Given the description of an element on the screen output the (x, y) to click on. 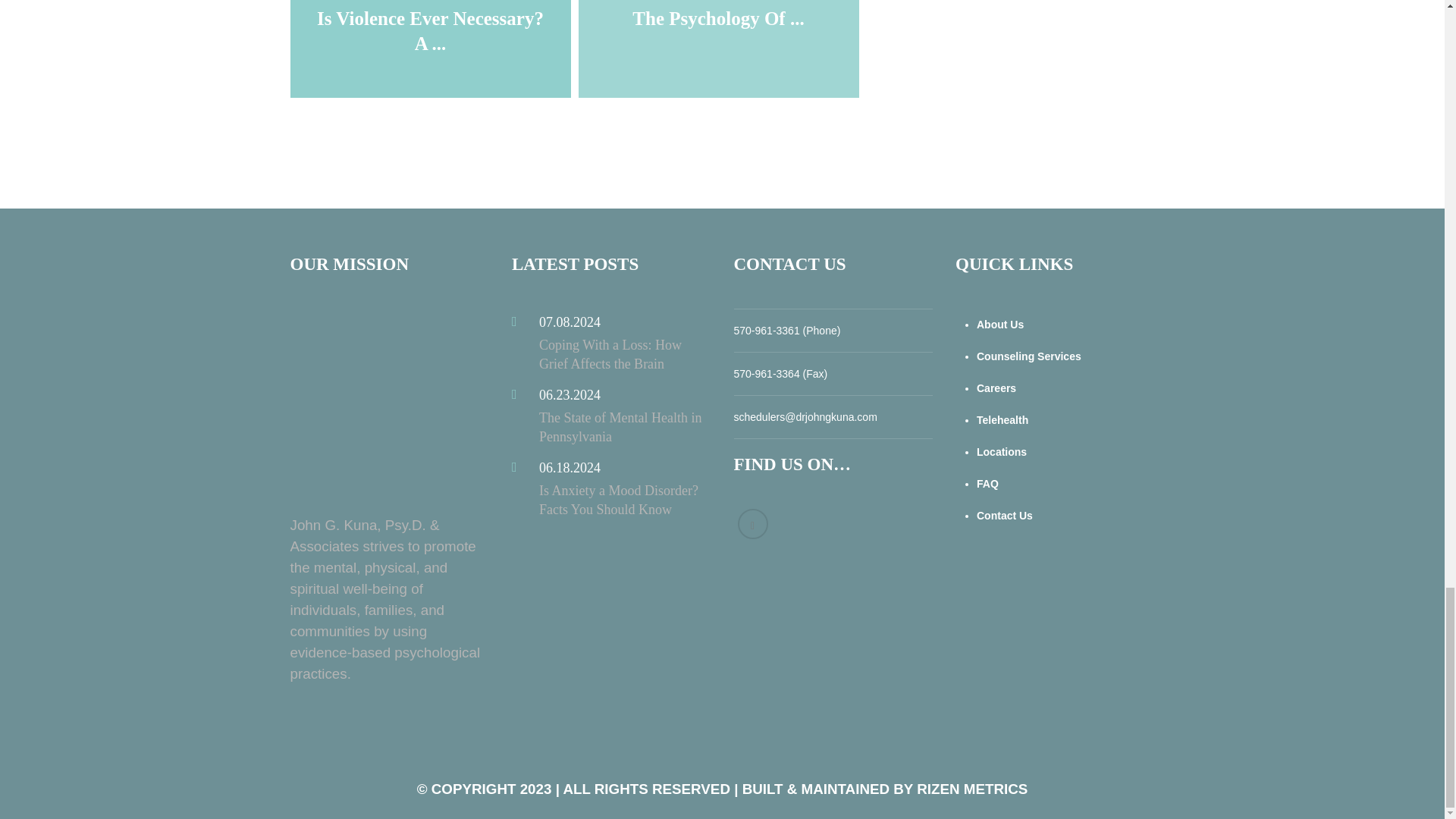
Facebook (751, 523)
